Given the description of an element on the screen output the (x, y) to click on. 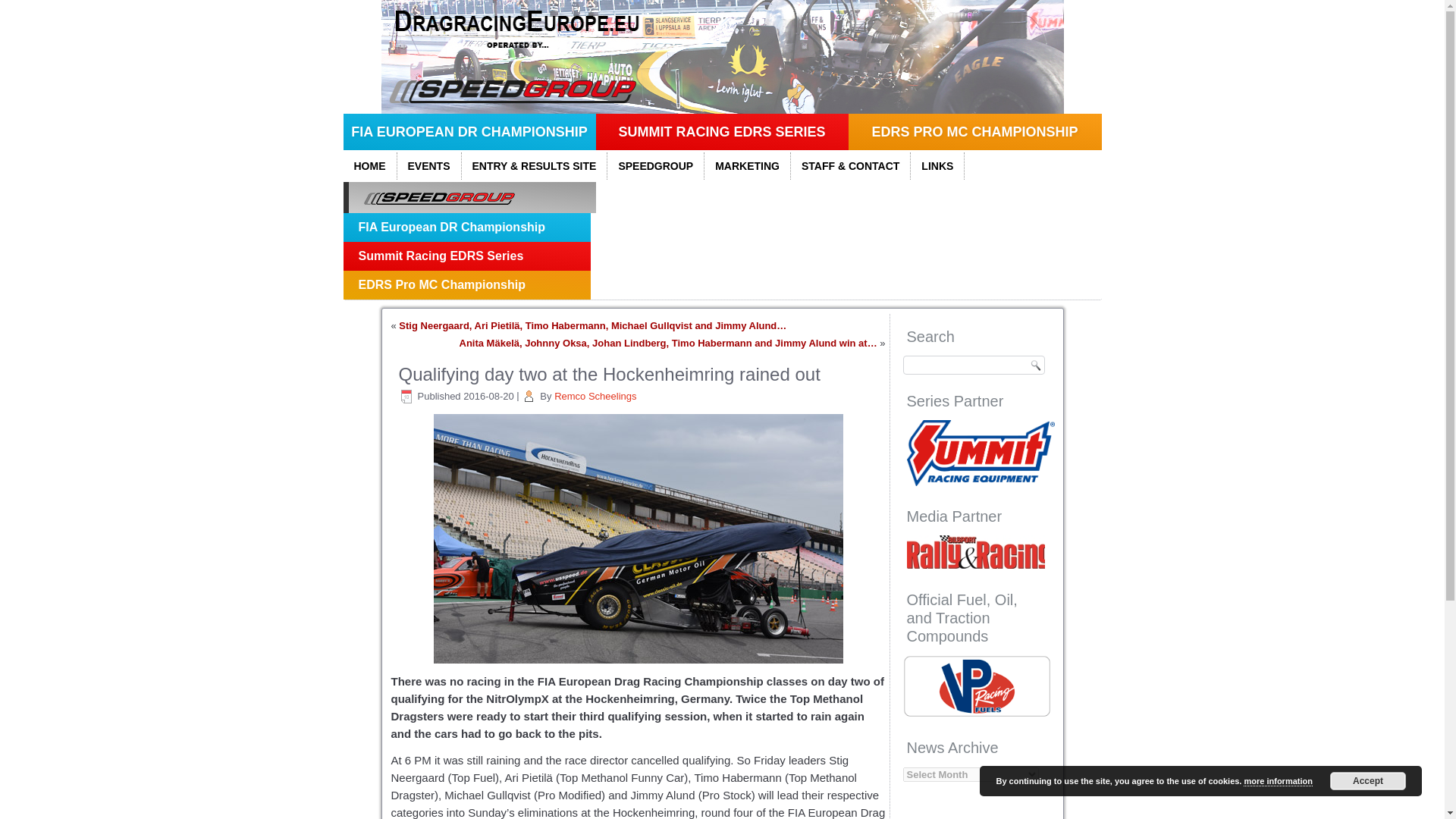
FIA European DR Championship (468, 131)
Speedgroup (655, 165)
EDRS Pro MC Championship (973, 131)
EDRS Pro MC Championship (466, 285)
LINKS (937, 165)
MARKETING (747, 165)
Remco Scheelings (595, 396)
FIA European DR Championship (466, 226)
Summit Racing EDRS Series (466, 256)
Speedgroup (468, 196)
